Given the description of an element on the screen output the (x, y) to click on. 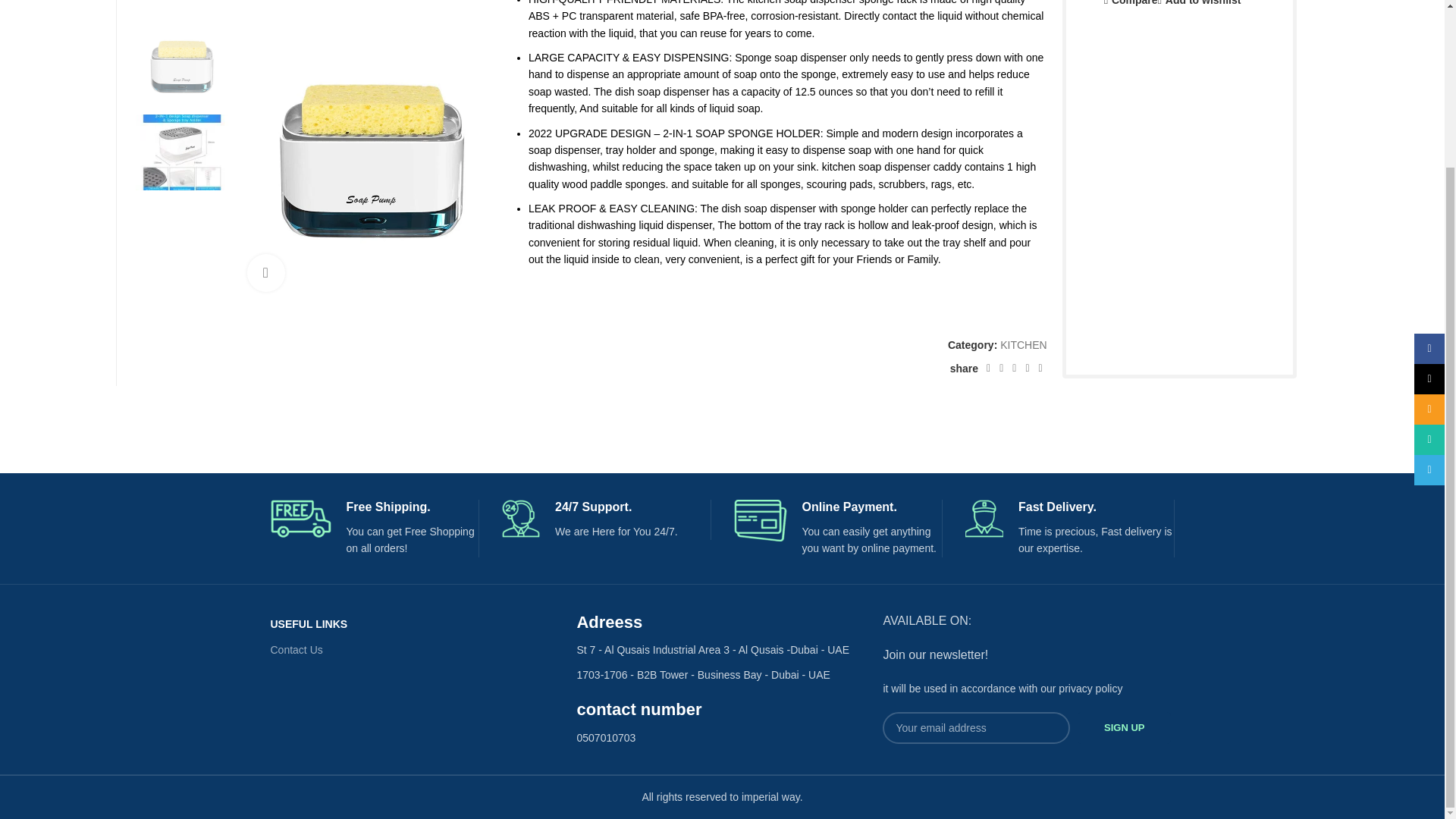
23 (651, 167)
Log in (395, 46)
22 (370, 167)
Sign up (1123, 727)
KITCHEN (1023, 345)
